Given the description of an element on the screen output the (x, y) to click on. 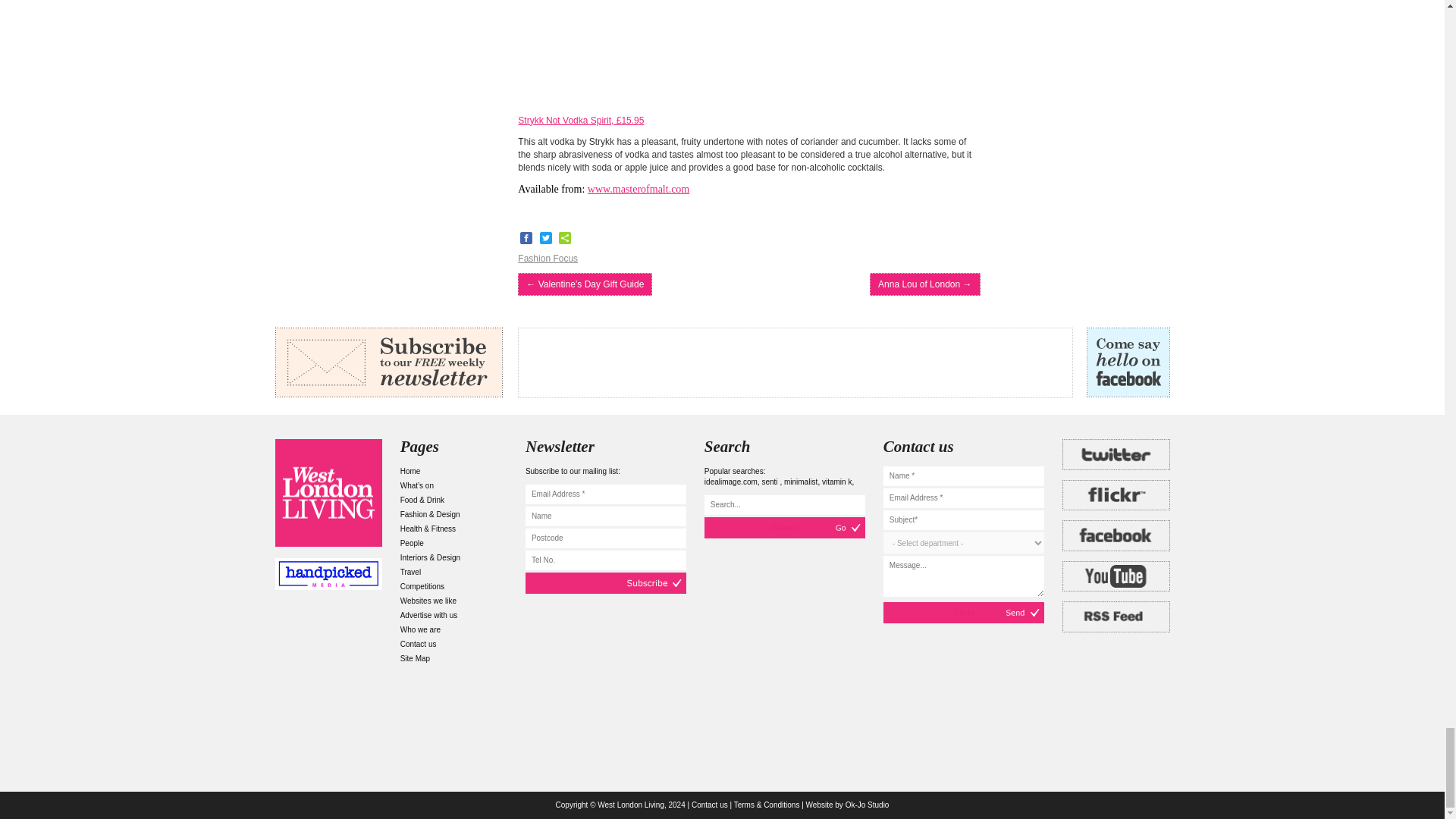
Tel No. (605, 560)
Name (605, 516)
Postcode (605, 537)
Send (963, 612)
Search (784, 527)
Subscribe (605, 582)
